Given the description of an element on the screen output the (x, y) to click on. 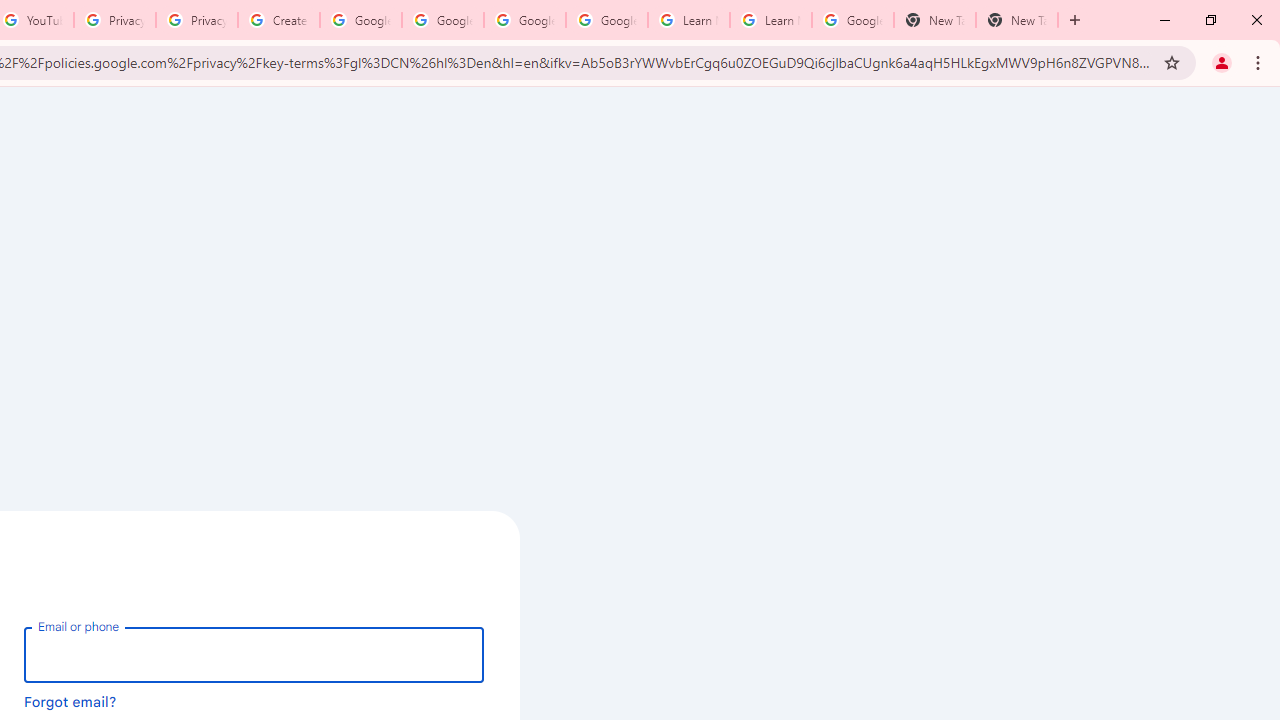
Create your Google Account (278, 20)
Google Account Help (524, 20)
Google Account Help (606, 20)
New Tab (934, 20)
Google Account Help (360, 20)
Google Account (852, 20)
Forgot email? (70, 701)
